Given the description of an element on the screen output the (x, y) to click on. 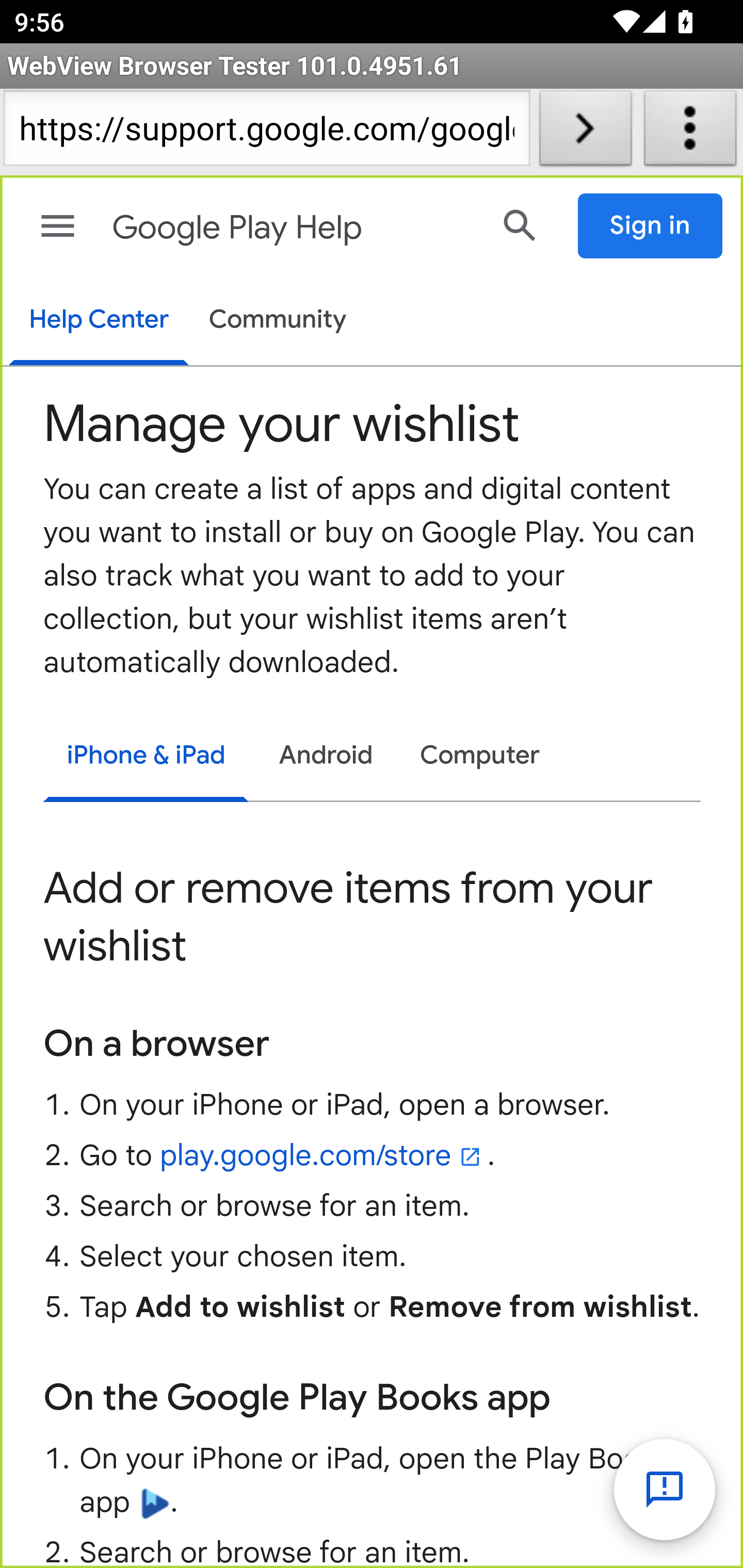
Load URL (585, 132)
About WebView (690, 132)
Main menu (58, 226)
Google Play Help (292, 227)
Search Help Center (519, 225)
Sign in (650, 226)
Help Center (98, 320)
Community (277, 320)
iPhone & iPad (145, 757)
Android (325, 756)
Computer (479, 756)
play.google.com/store (323, 1155)
